Given the description of an element on the screen output the (x, y) to click on. 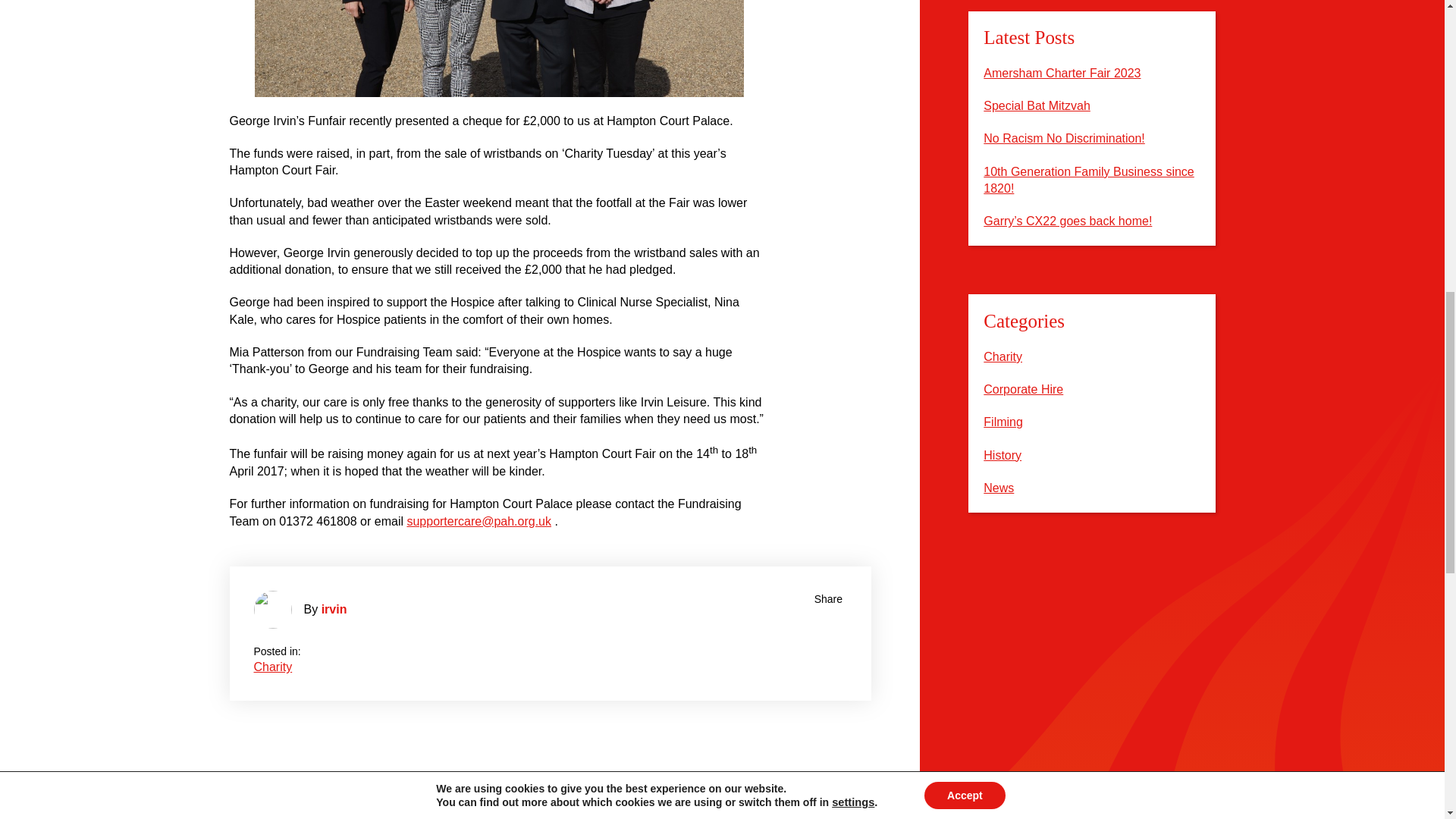
Charity (272, 666)
10th Generation Family Business since 1820! (1088, 179)
No Racism No Discrimination! (1064, 137)
irvin (334, 608)
Amersham Charter Fair 2023 (1062, 72)
Special Bat Mitzvah (1037, 105)
